Given the description of an element on the screen output the (x, y) to click on. 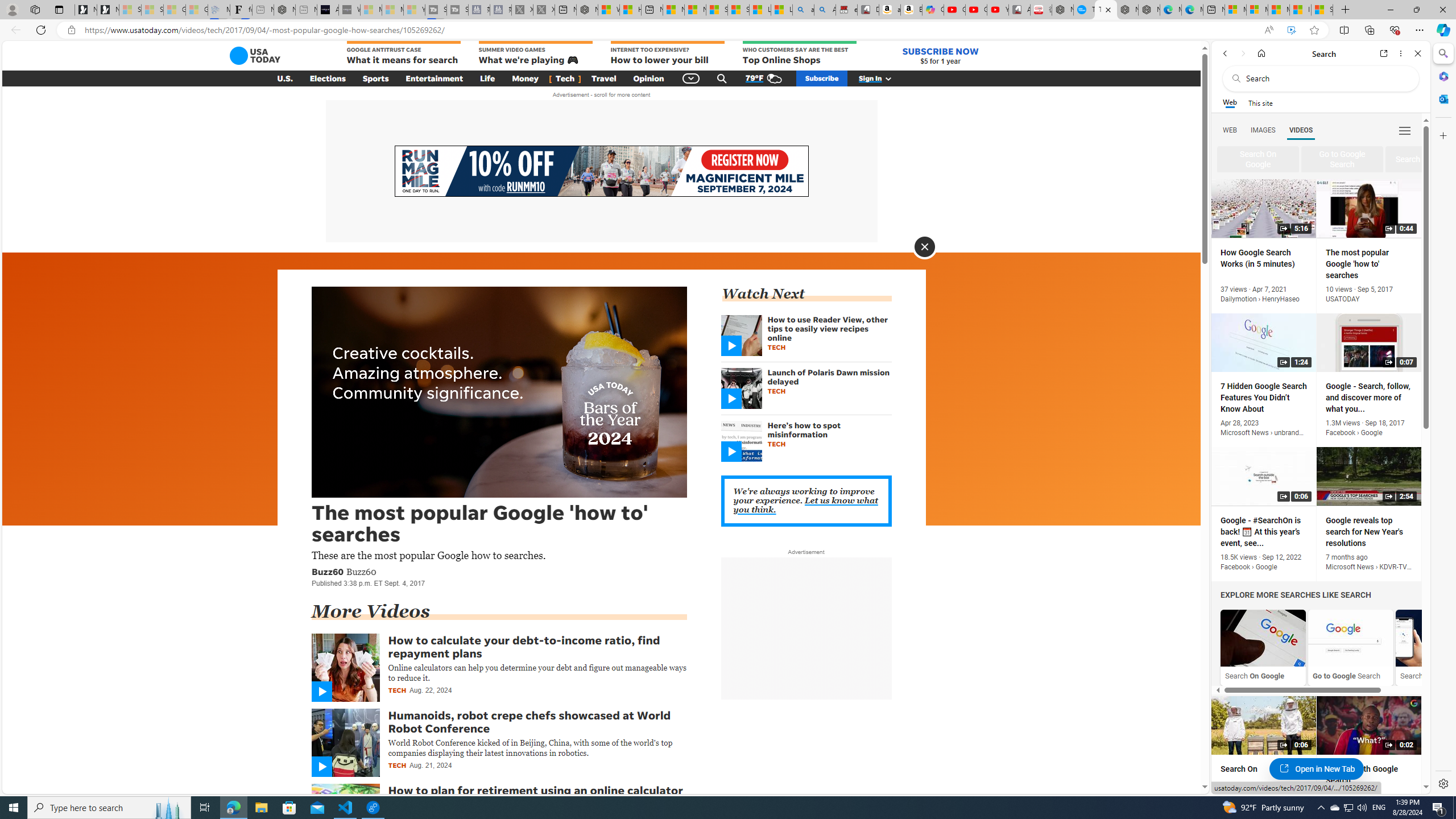
Search Filter, IMAGES (1262, 129)
This site scope (1259, 102)
U.S. (284, 78)
Search On Google (1263, 637)
Launch of Polaris Dawn mission delayed TECH (805, 391)
